Given the description of an element on the screen output the (x, y) to click on. 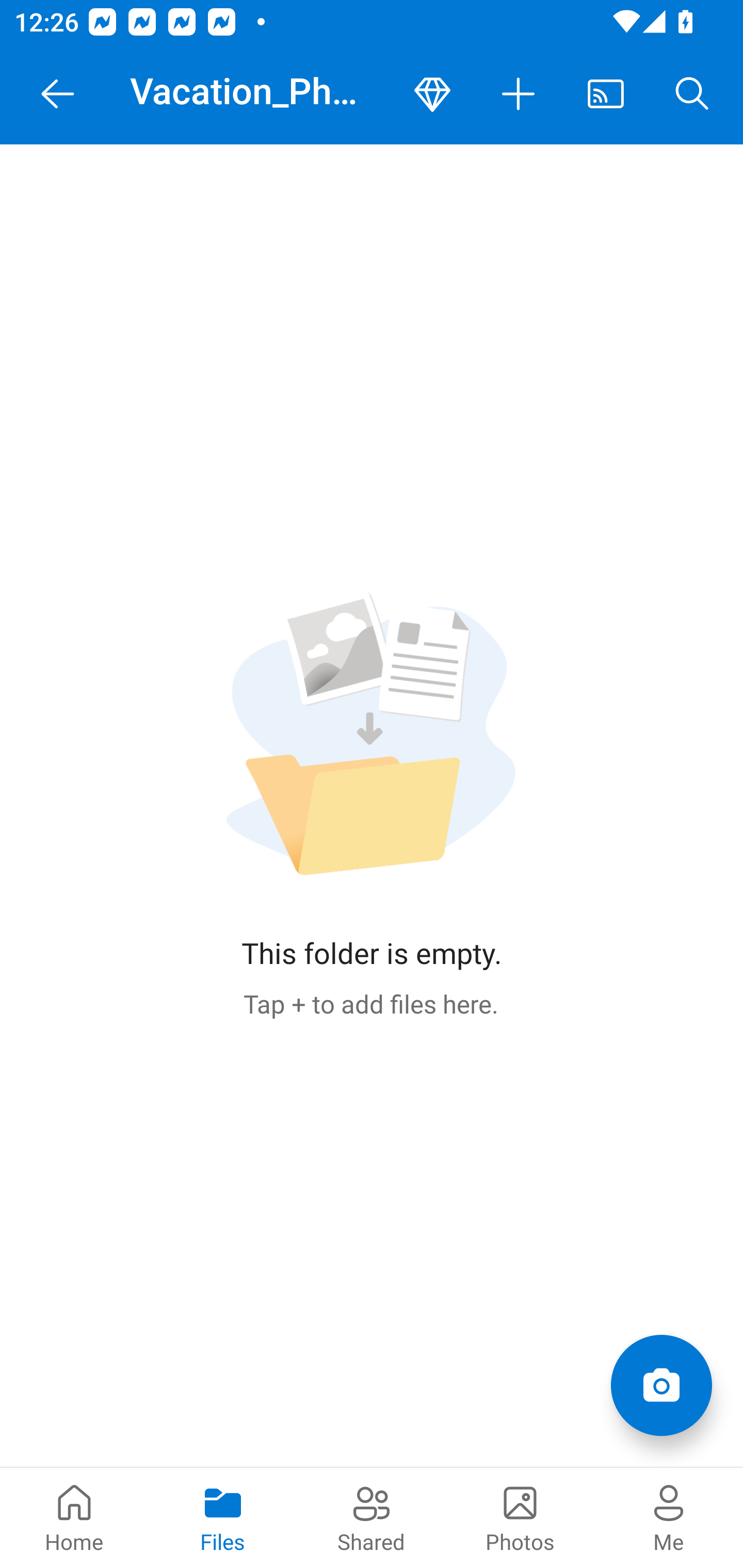
Navigate Up (57, 93)
Cast. Disconnected (605, 93)
Premium button (432, 93)
More actions button (518, 93)
Search button (692, 93)
Add items Scan (660, 1385)
Home pivot Home (74, 1517)
Shared pivot Shared (371, 1517)
Photos pivot Photos (519, 1517)
Me pivot Me (668, 1517)
